Given the description of an element on the screen output the (x, y) to click on. 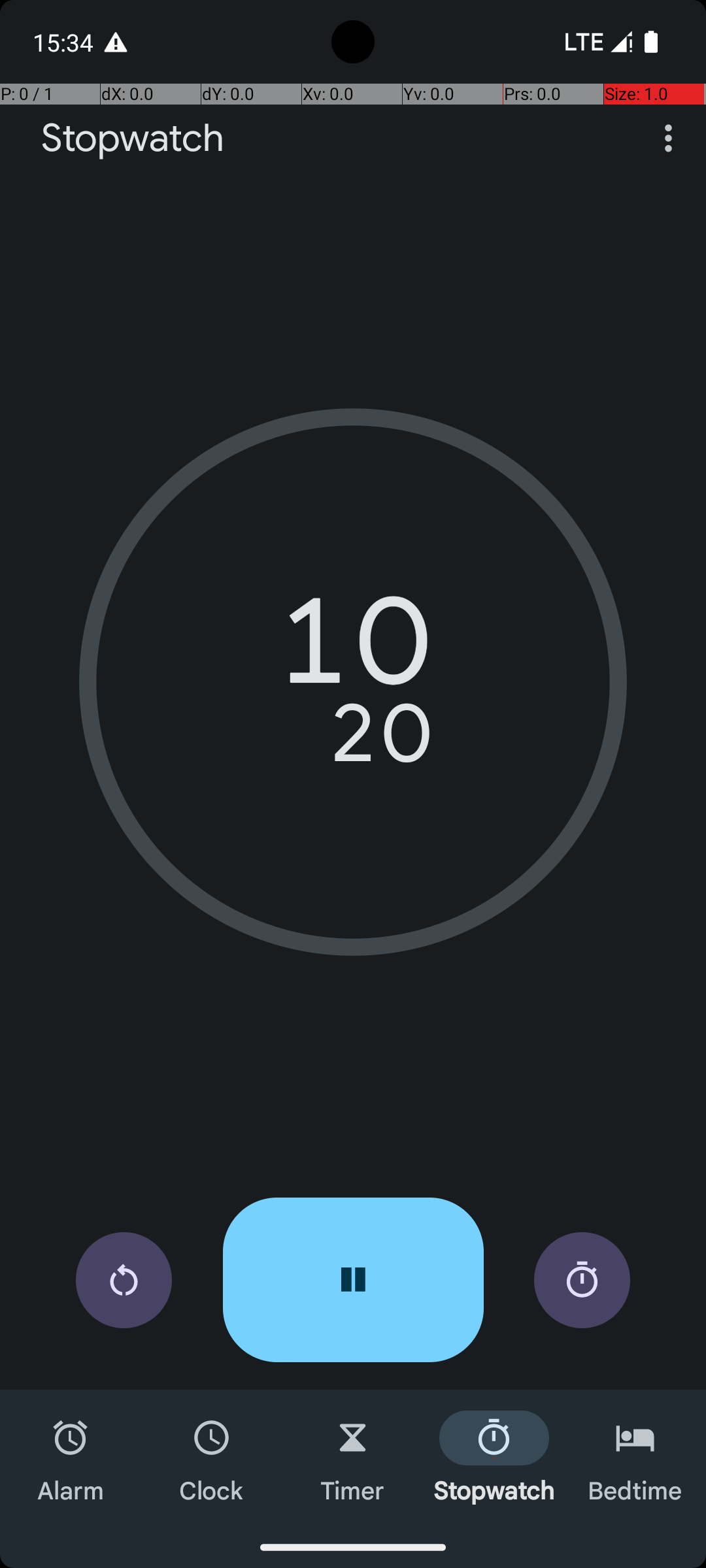
Pause Element type: android.widget.Button (352, 1279)
Lap Element type: android.widget.ImageButton (582, 1280)
